Given the description of an element on the screen output the (x, y) to click on. 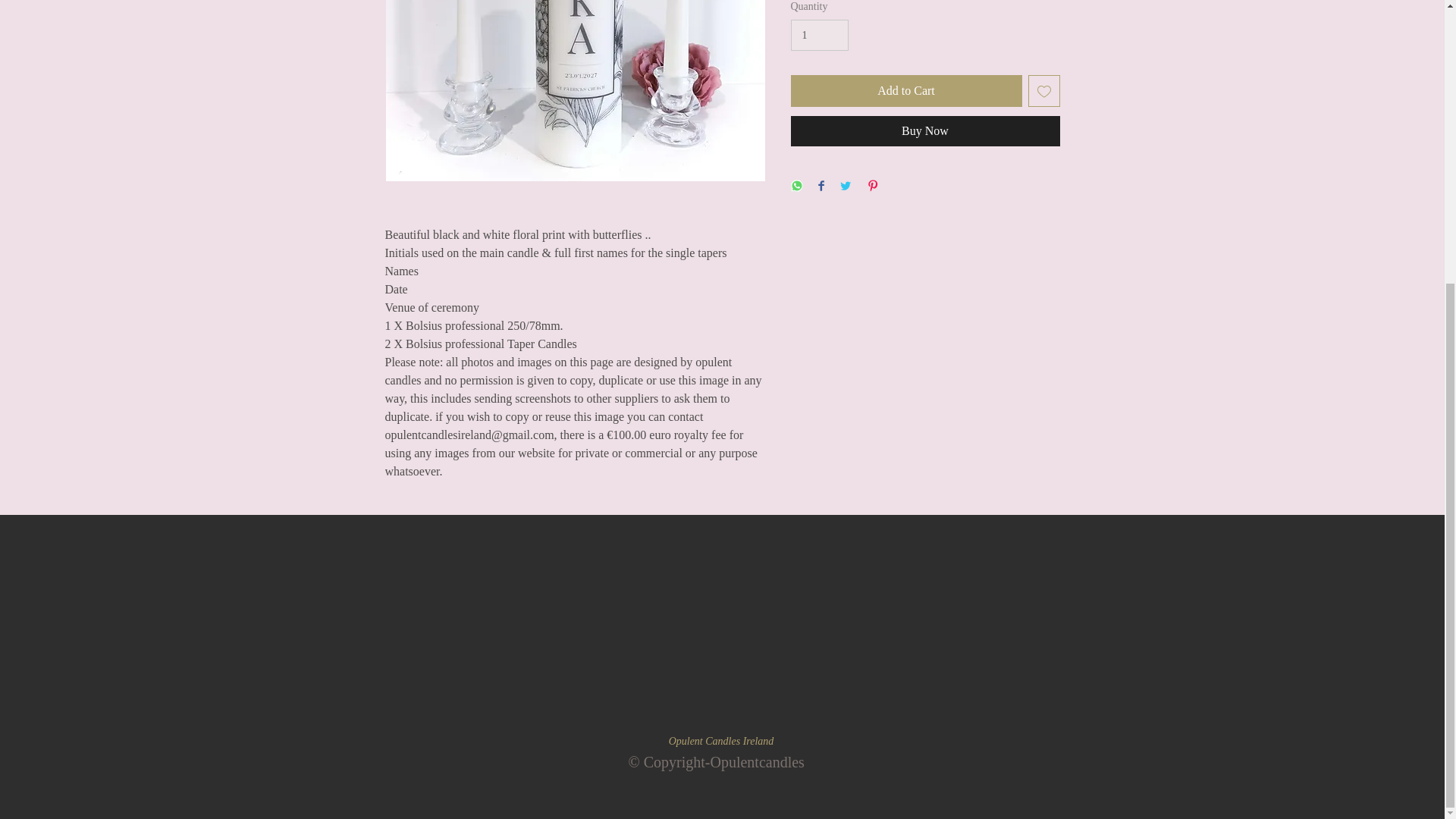
Add to Cart (906, 91)
1 (818, 34)
Buy Now (924, 131)
